Given the description of an element on the screen output the (x, y) to click on. 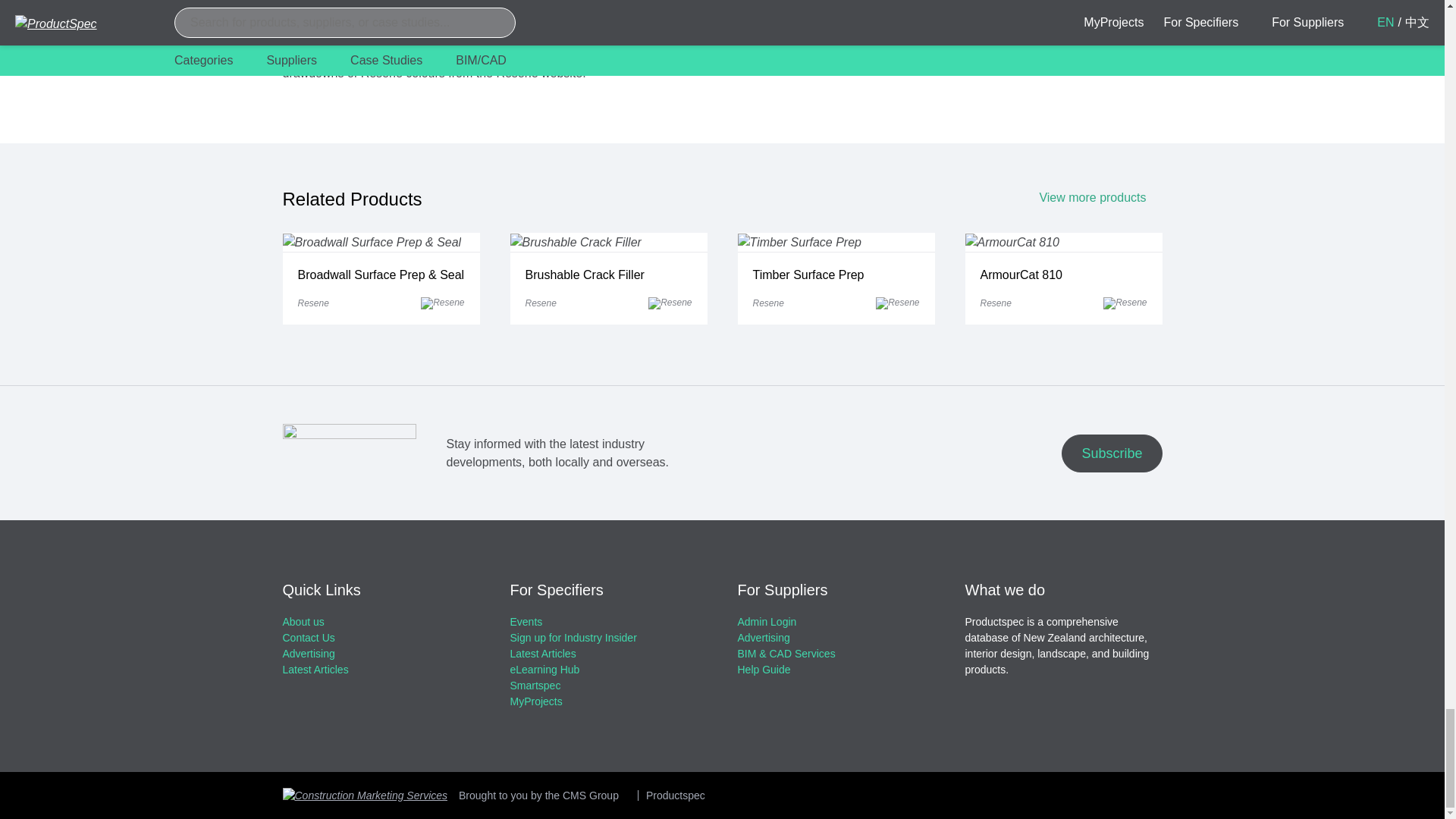
ArmourCat 810 (1011, 242)
Resene (1125, 303)
Go to the Construction Marketing Services website (538, 795)
Go to the Construction Marketing Services website (364, 795)
Resene (669, 303)
Resene (897, 303)
Timber Surface Prep (798, 242)
Brushable Crack Filler (574, 242)
Resene (442, 303)
